Given the description of an element on the screen output the (x, y) to click on. 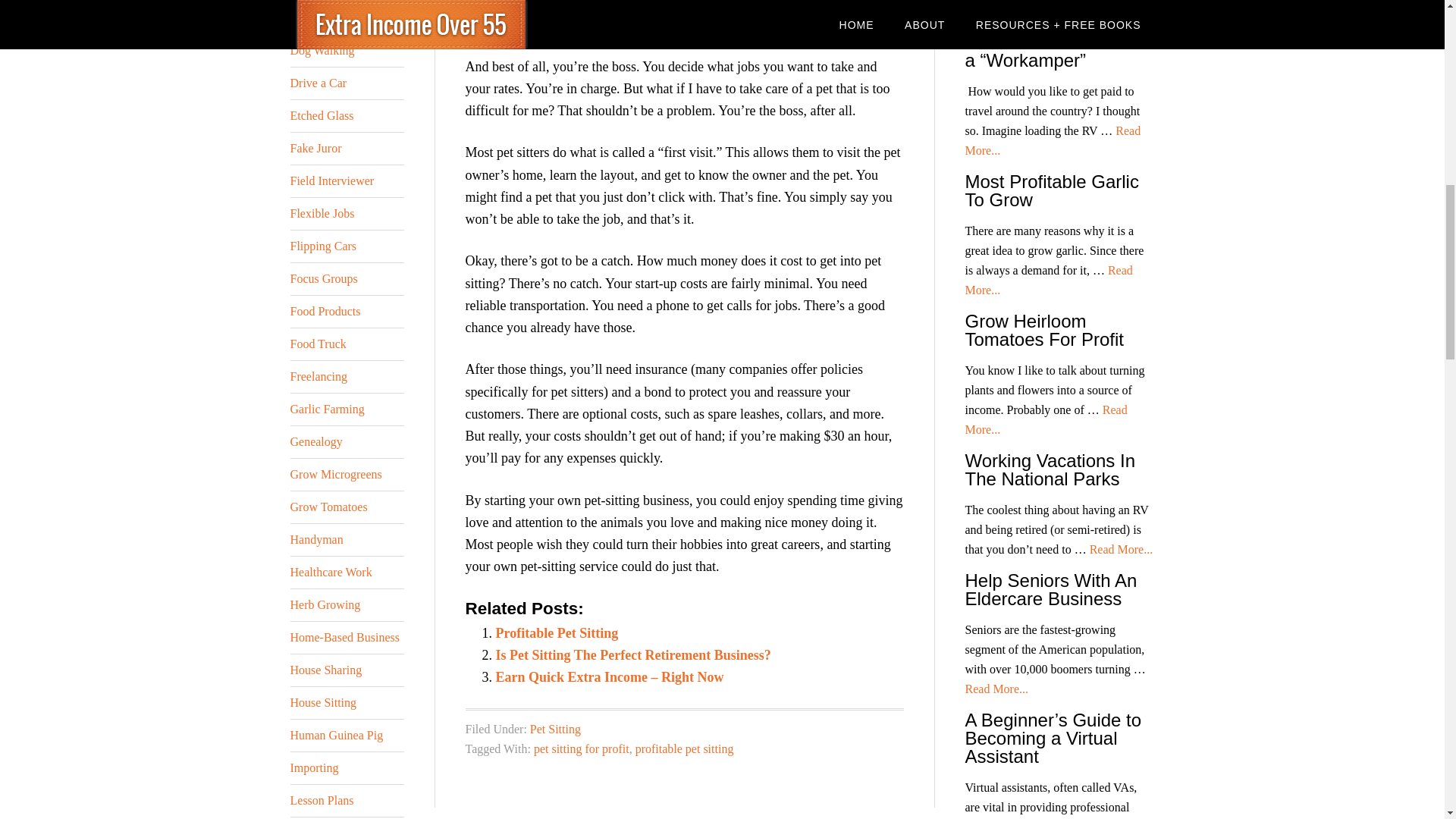
Read More... (1042, 8)
Read More... (995, 688)
Working Vacations In The National Parks (1049, 469)
Read More... (1044, 419)
Profitable Pet Sitting (557, 632)
Profitable Pet Sitting (557, 632)
Most Profitable Garlic To Grow (1050, 190)
Read More... (1047, 279)
Help Seniors With An Eldercare Business (1050, 589)
Read More... (1121, 549)
